Given the description of an element on the screen output the (x, y) to click on. 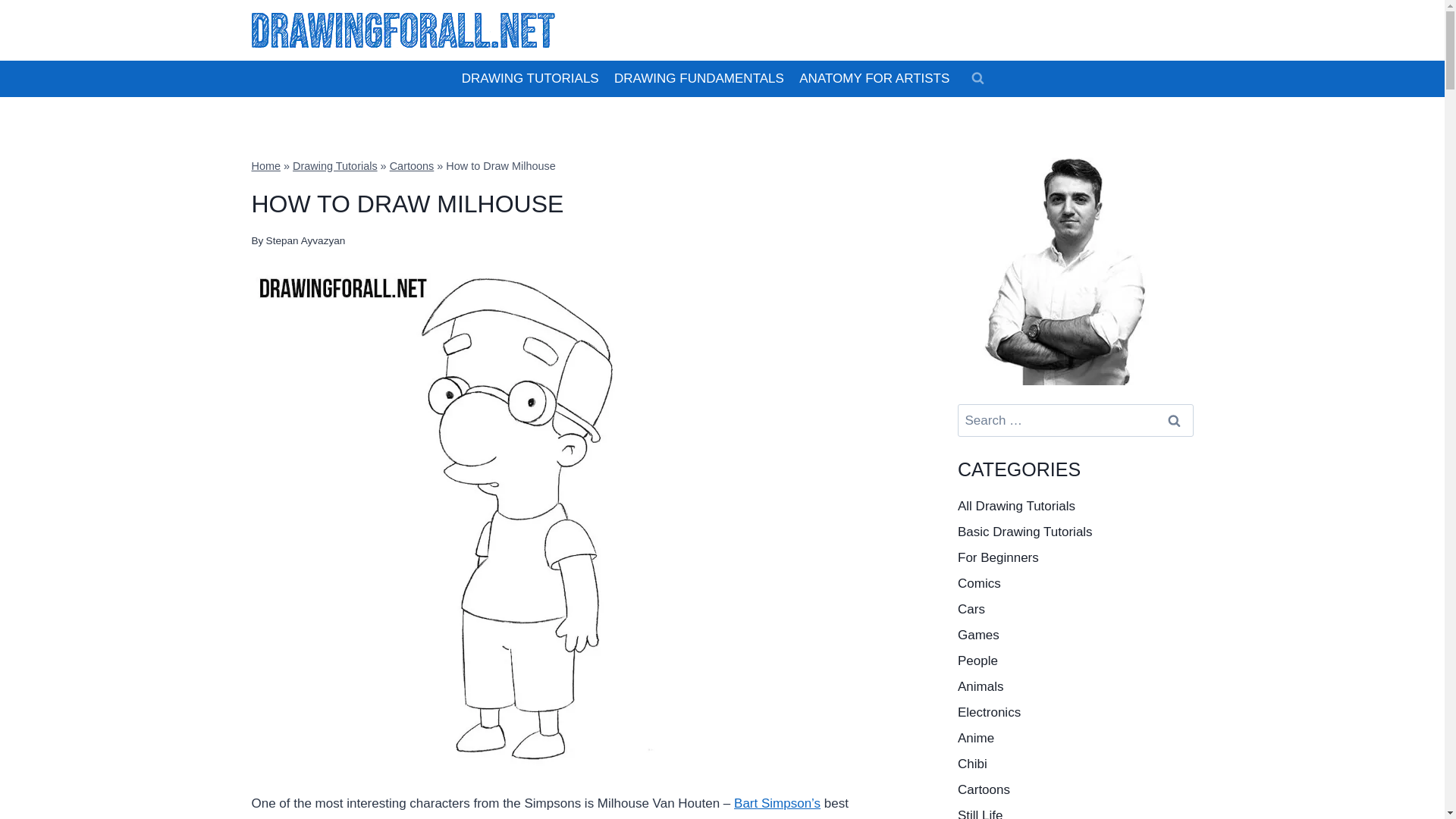
Search (1174, 420)
Cartoons (411, 165)
Cars (1075, 609)
Home (266, 165)
Animals (1075, 687)
Electronics (1075, 712)
Anime (1075, 738)
Search (1174, 420)
ANATOMY FOR ARTISTS (874, 78)
Comics (1075, 583)
